Given the description of an element on the screen output the (x, y) to click on. 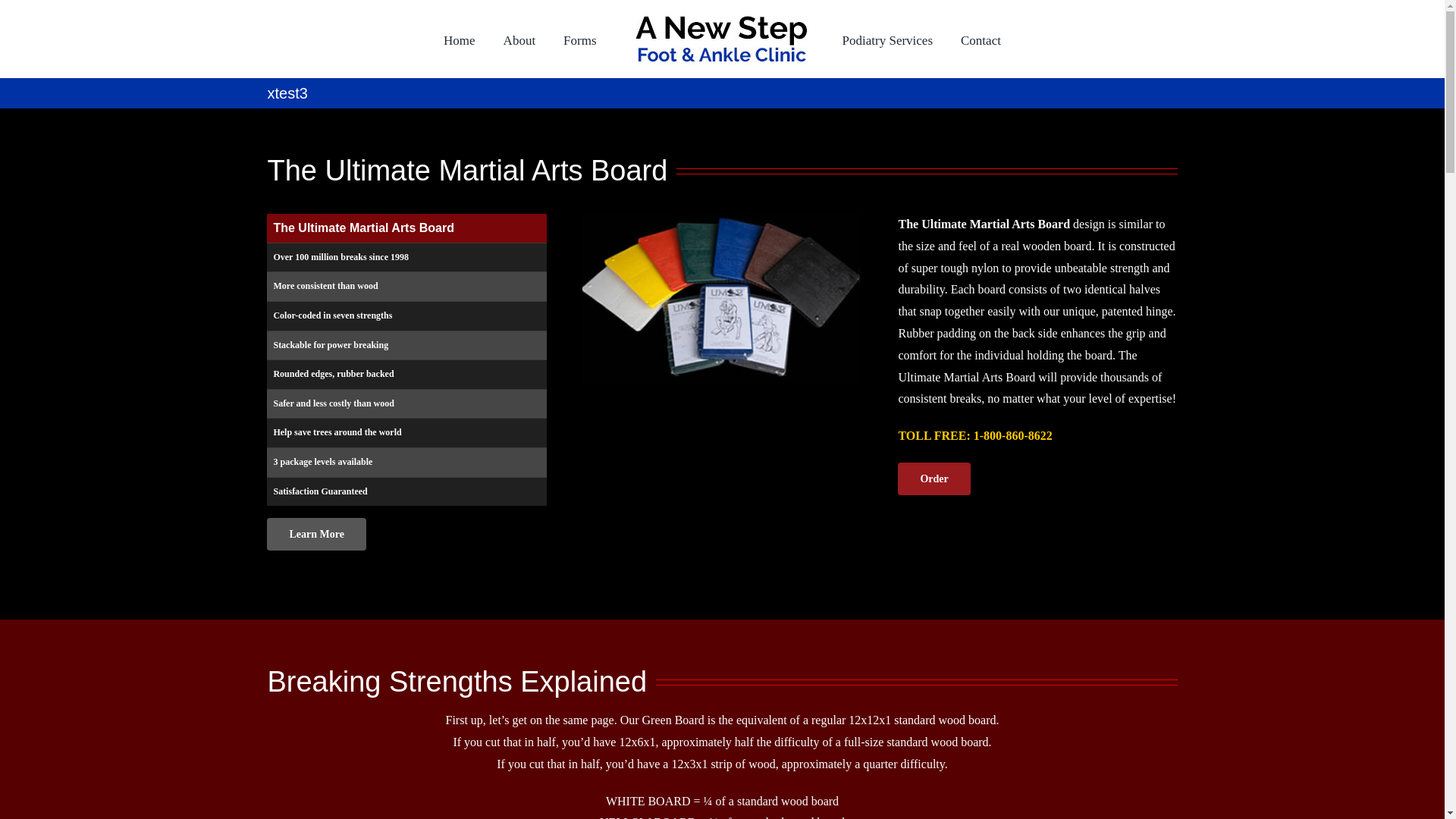
About (519, 38)
Podiatry Services (888, 38)
Home (460, 38)
umaboard (721, 298)
Contact (980, 38)
Forms (579, 38)
